Given the description of an element on the screen output the (x, y) to click on. 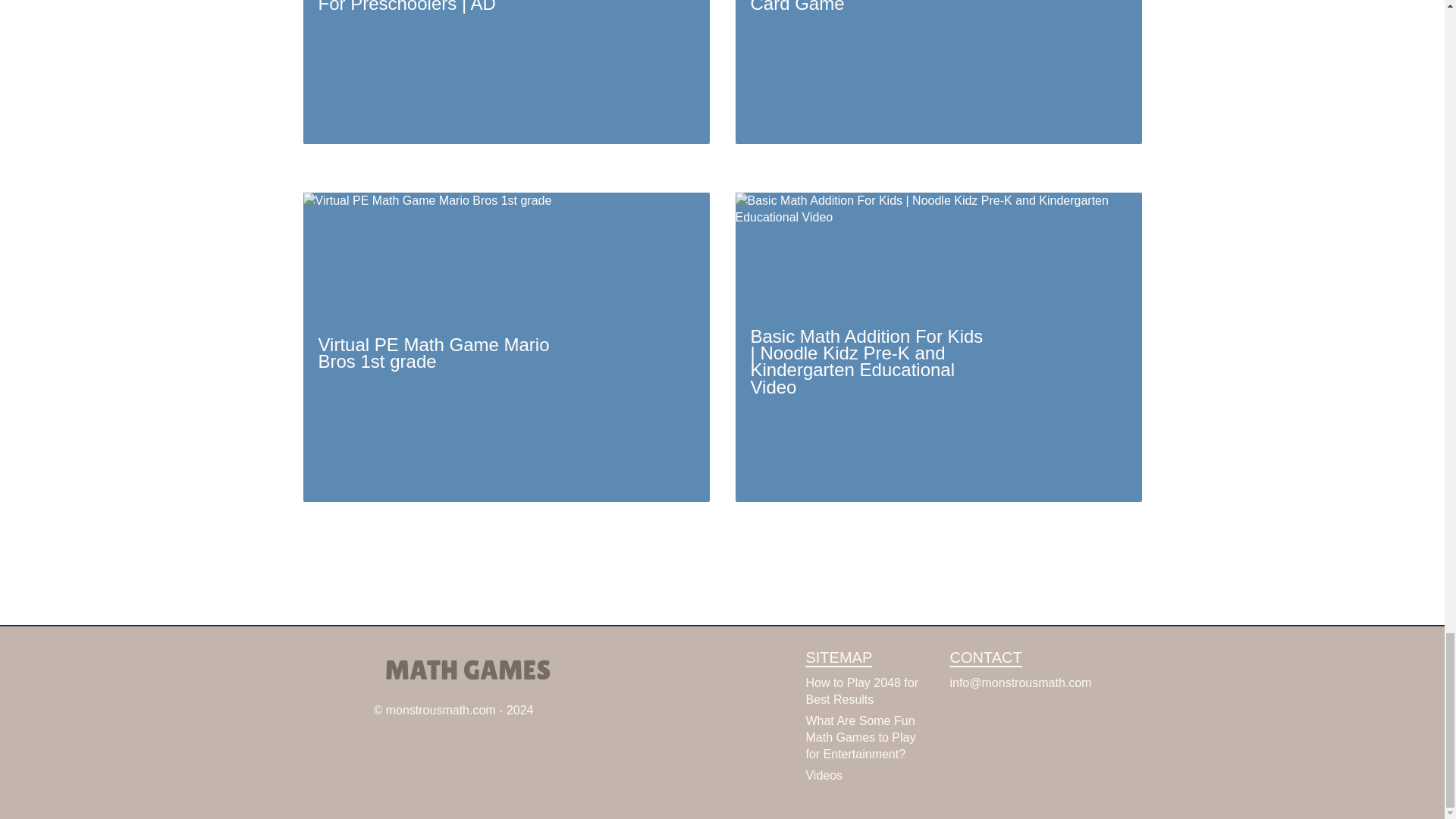
Virtual PE Math Game Mario Bros 1st grade (506, 346)
What Are Some Fun Math Games to Play for Entertainment? (860, 737)
Videos (824, 775)
How to Play 2048 for Best Results (861, 690)
